Given the description of an element on the screen output the (x, y) to click on. 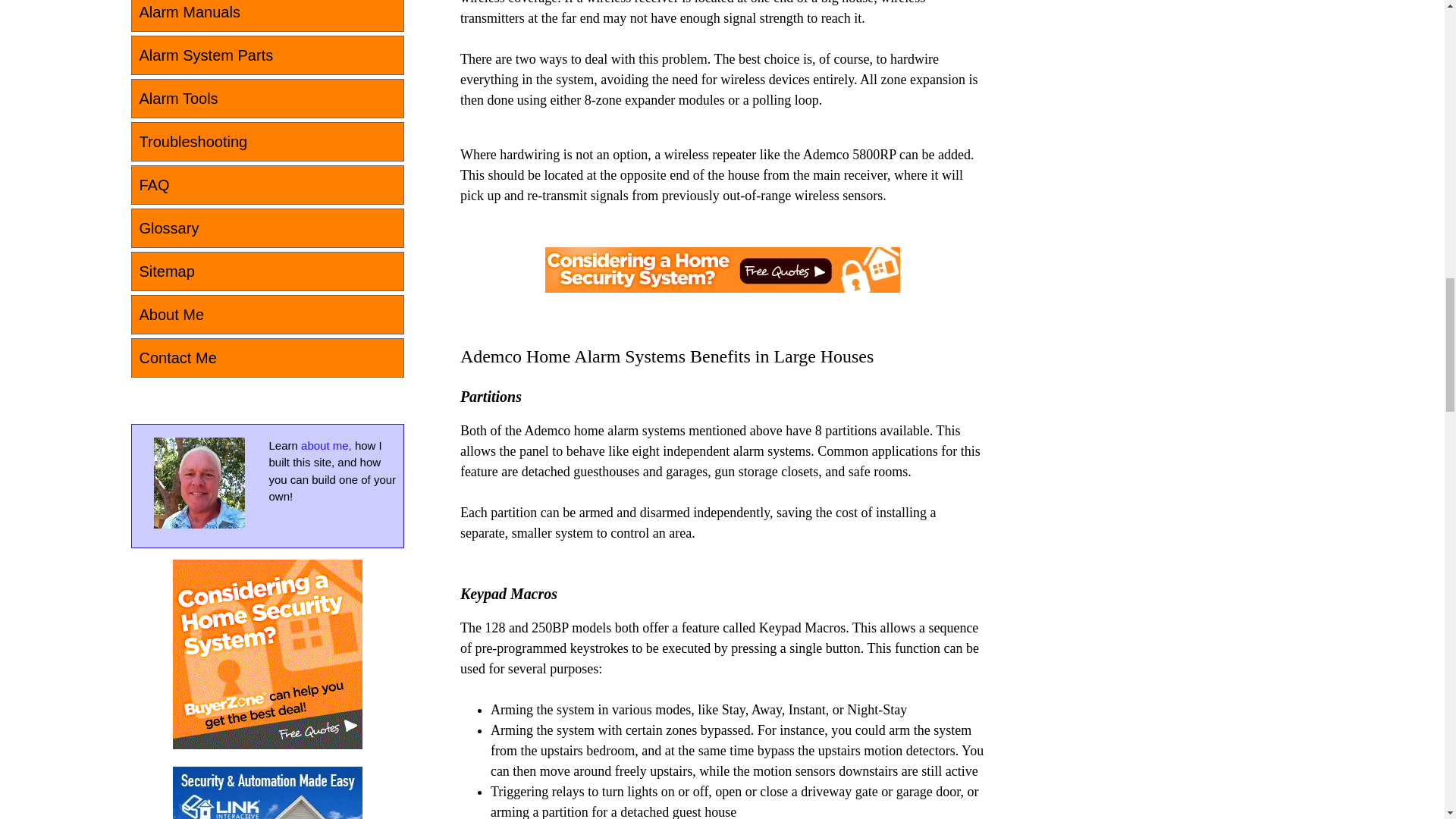
BuyerZone helps you find the best deals on home security. (267, 654)
Home Security Systems Answers About Me Page (199, 482)
Link Interactive - Security and home automation made easy. (267, 792)
Go to About Me (199, 523)
